Given the description of an element on the screen output the (x, y) to click on. 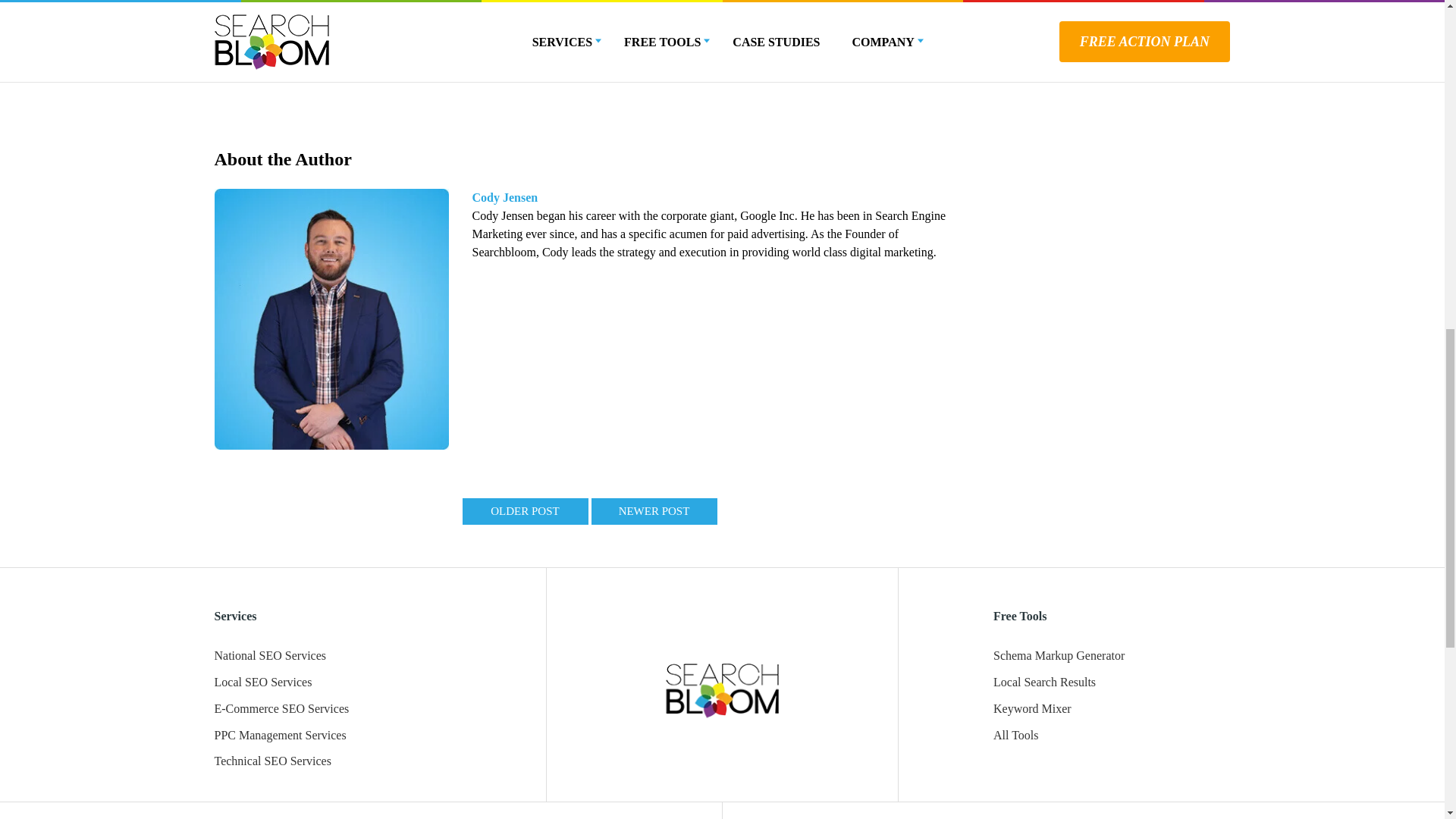
Go to Home (721, 689)
